Given the description of an element on the screen output the (x, y) to click on. 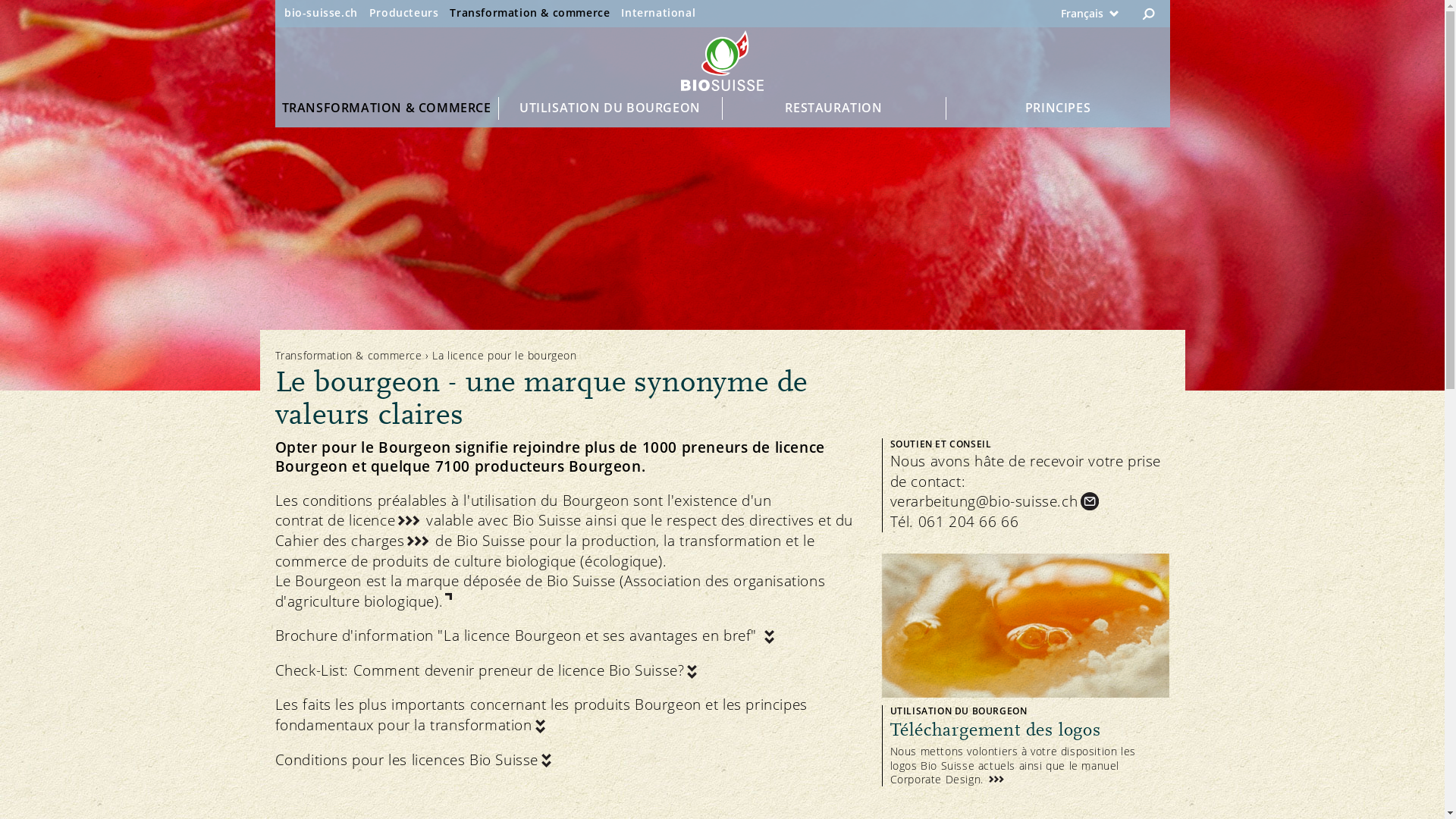
UTILISATION DU BOURGEON Element type: text (610, 108)
Producteurs Element type: text (404, 12)
Check-List: Comment devenir preneur de licence Bio Suisse? Element type: text (486, 670)
TRANSFORMATION & COMMERCE Element type: text (386, 108)
Transformation & commerce Element type: text (347, 355)
Cahier des charges Element type: text (352, 540)
bio-suisse.ch Element type: text (320, 12)
Conditions pour les licences Bio Suisse Element type: text (413, 759)
verarbeitung@bio-suisse.ch Element type: text (995, 501)
contrat de licence Element type: text (347, 520)
RESTAURATION Element type: text (833, 108)
PRINCIPES Element type: text (1058, 108)
061 204 66 66 Element type: text (971, 521)
International Element type: text (658, 12)
Transformation & commerce Element type: text (529, 12)
